Given the description of an element on the screen output the (x, y) to click on. 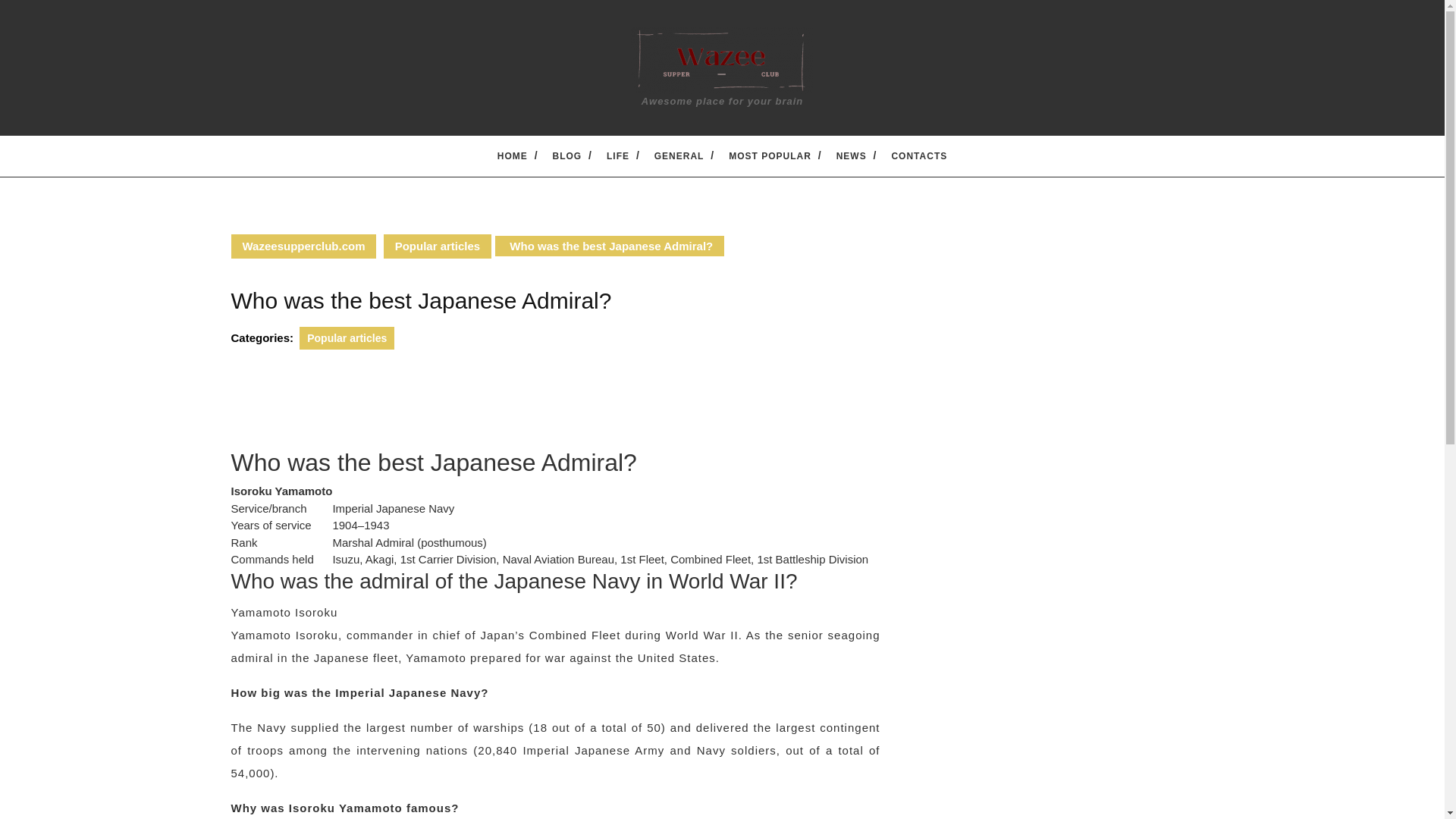
NEWS (851, 155)
BLOG (567, 155)
Popular articles (346, 337)
MOST POPULAR (770, 155)
HOME (512, 155)
Popular articles (438, 245)
CONTACTS (918, 155)
Wazeesupperclub.com (302, 245)
GENERAL (678, 155)
